Given the description of an element on the screen output the (x, y) to click on. 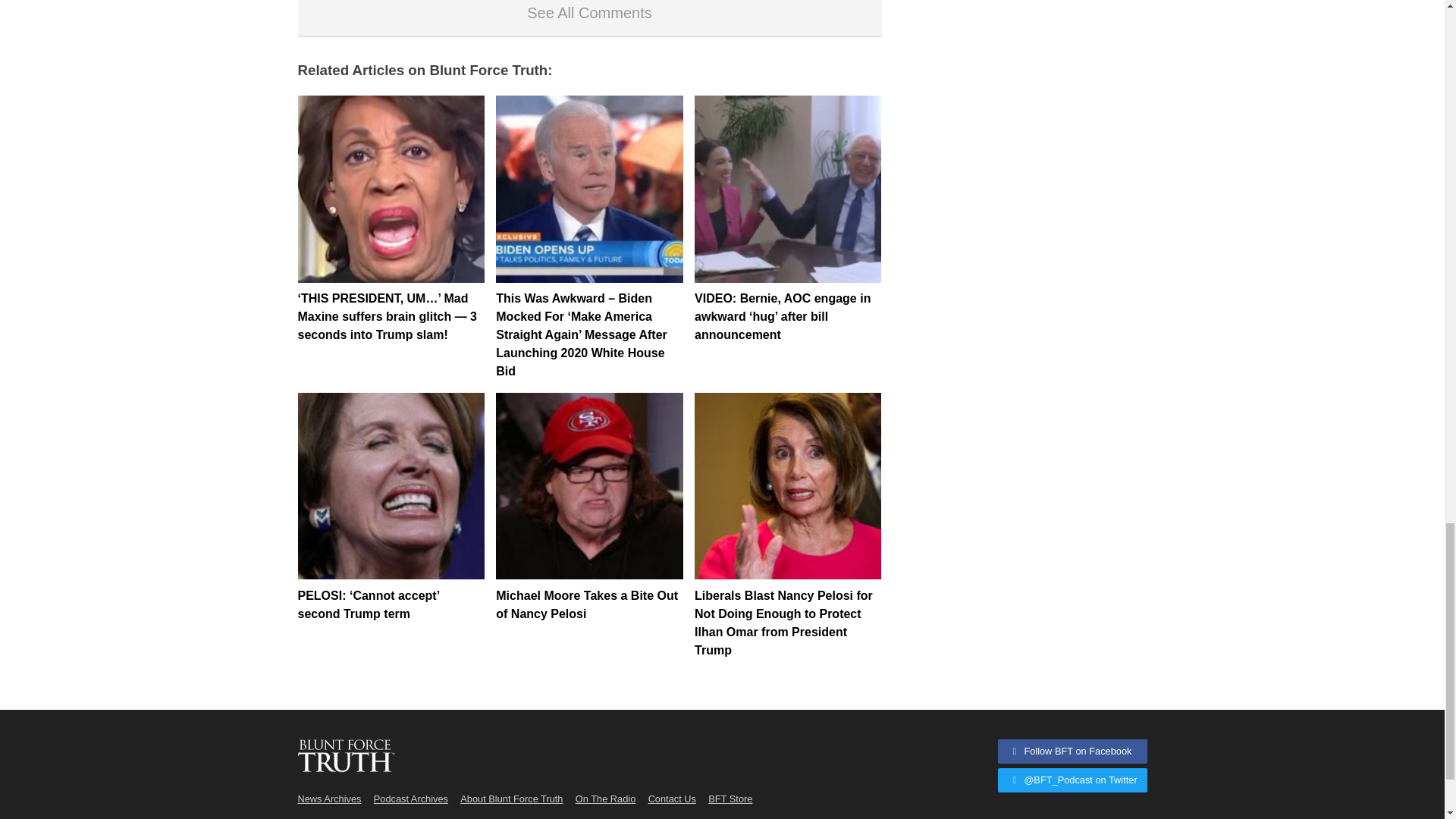
See All Comments (588, 18)
Michael Moore Takes a Bite Out of Nancy Pelosi (589, 486)
